Given the description of an element on the screen output the (x, y) to click on. 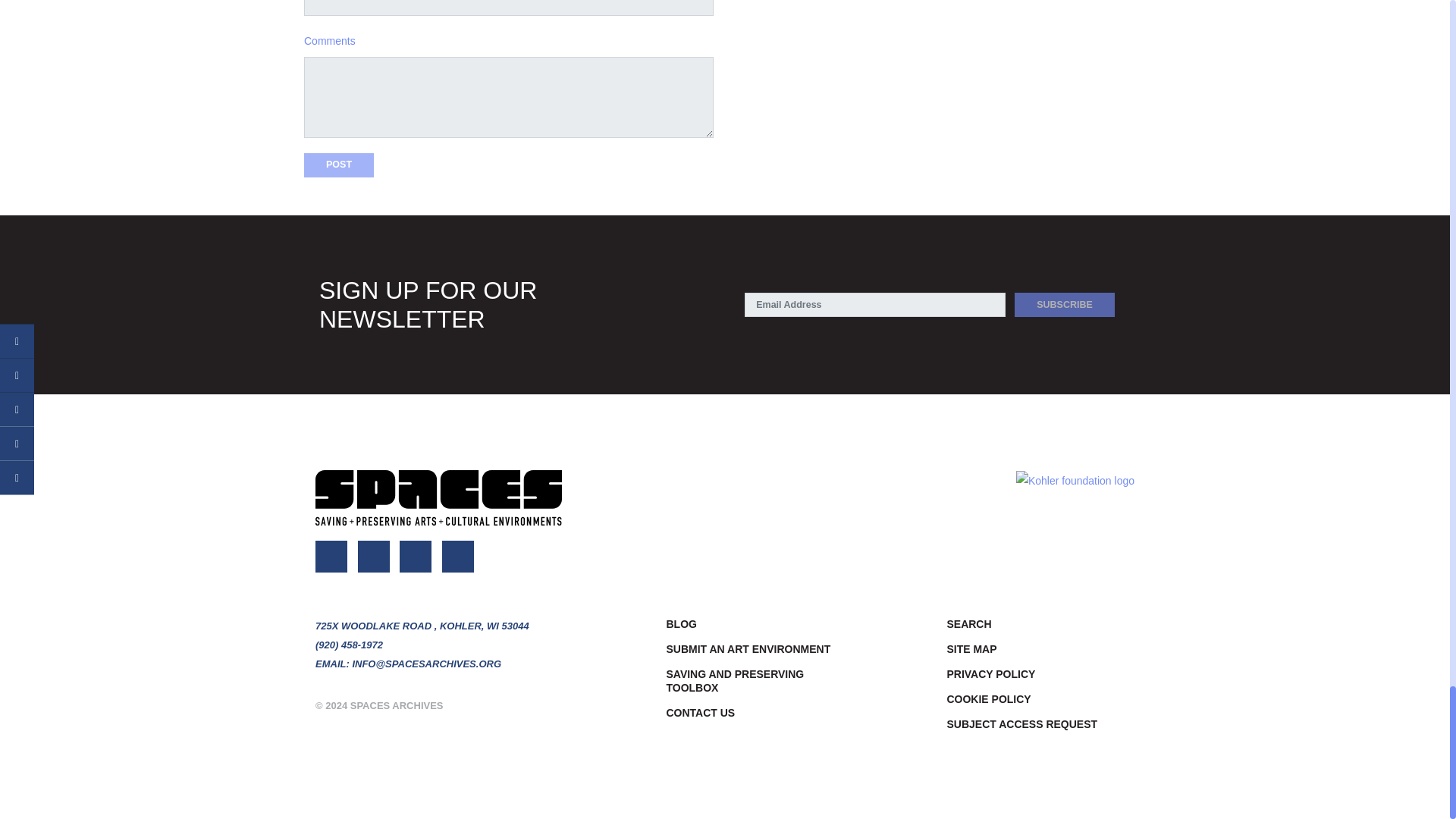
Post (339, 165)
Subscribe (1064, 304)
